Given the description of an element on the screen output the (x, y) to click on. 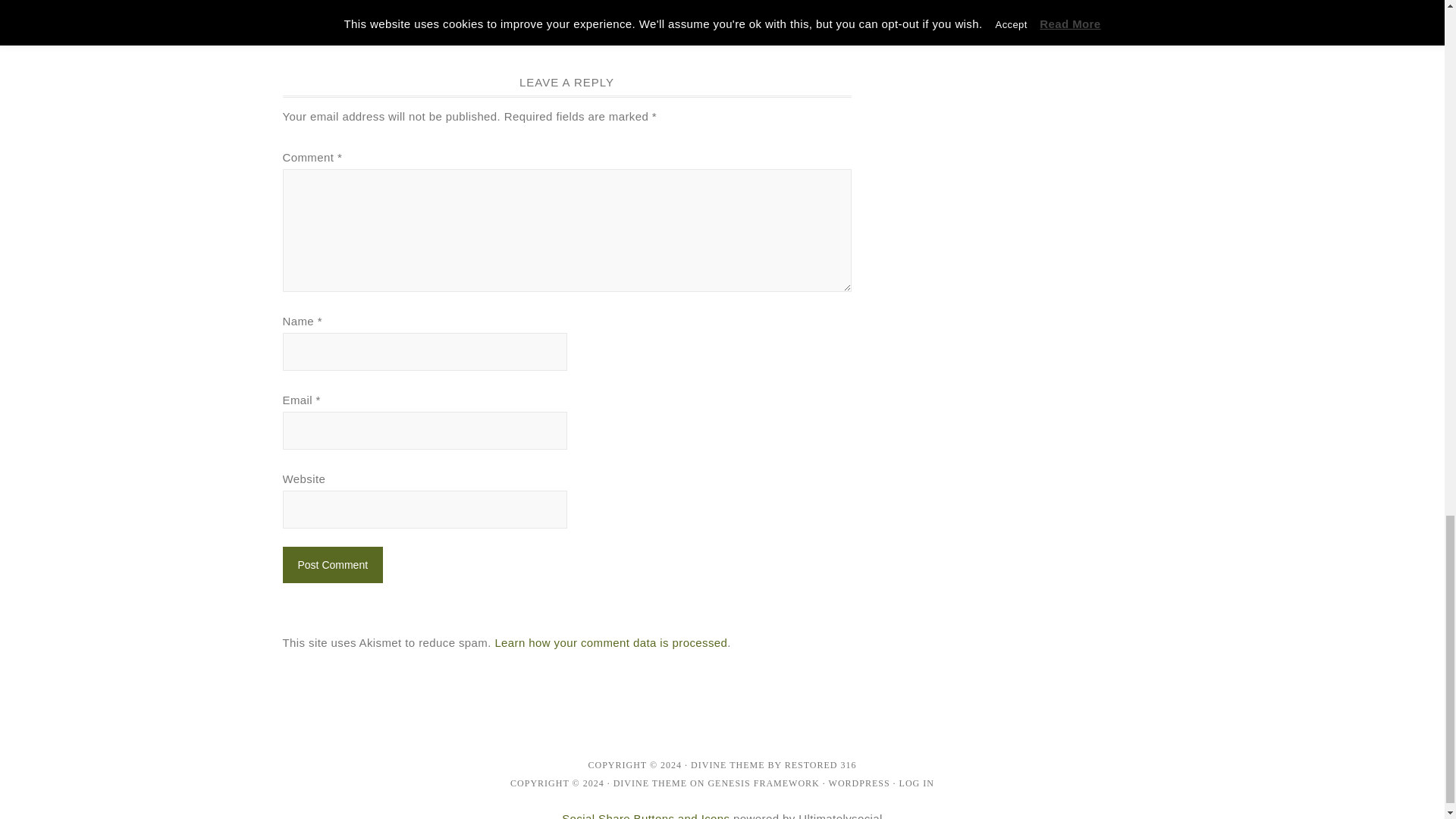
Learn how your comment data is processed (610, 642)
DIVINE THEME (727, 765)
Post Comment (332, 565)
Post Comment (332, 565)
DIVINE THEME (649, 783)
WORDPRESS (858, 783)
GENESIS FRAMEWORK (762, 783)
LOG IN (916, 783)
RESTORED 316 (820, 765)
